Given the description of an element on the screen output the (x, y) to click on. 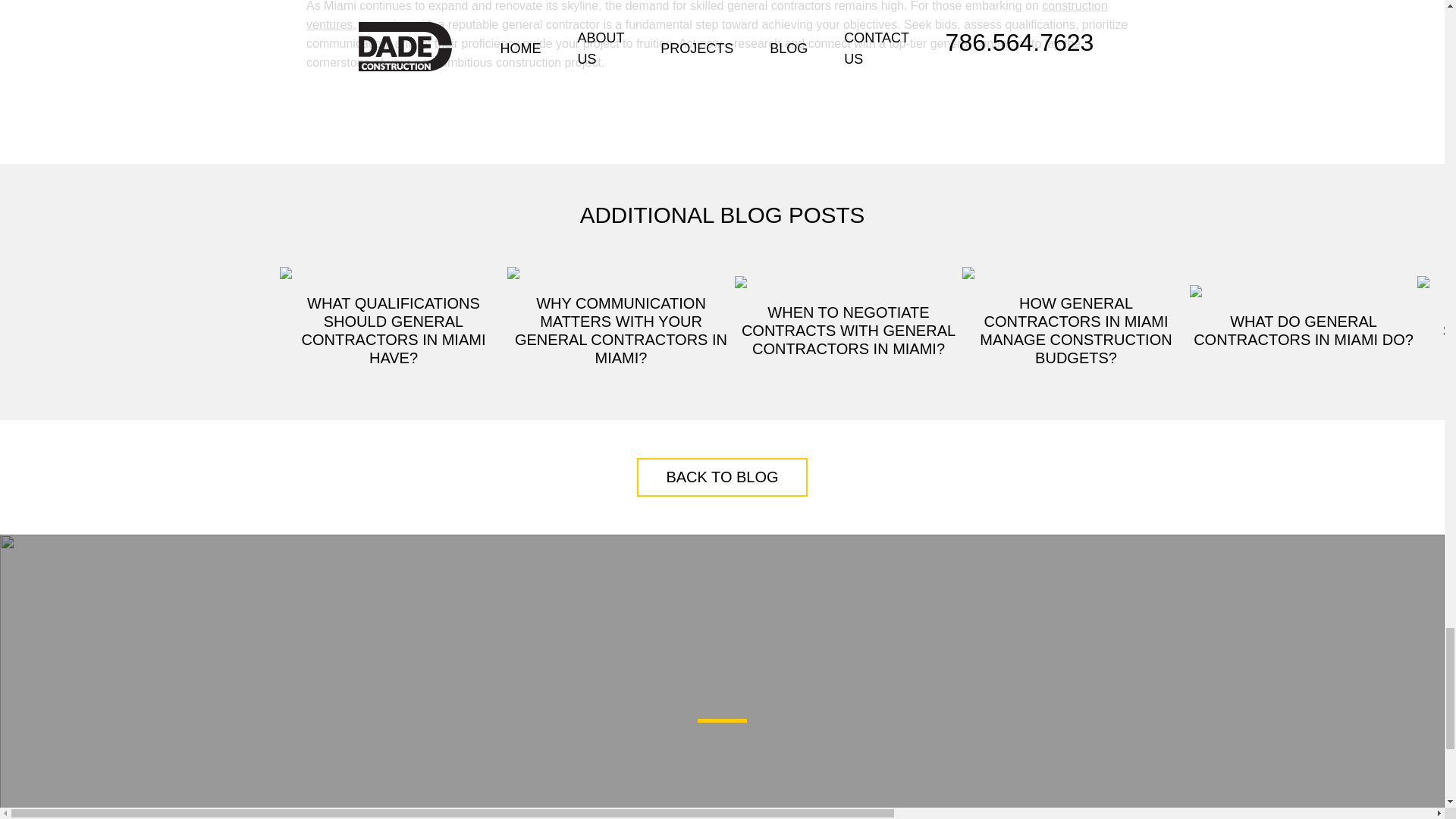
construction ventures (706, 15)
WHAT DO GENERAL CONTRACTORS IN MIAMI DO? (1302, 316)
